Given the description of an element on the screen output the (x, y) to click on. 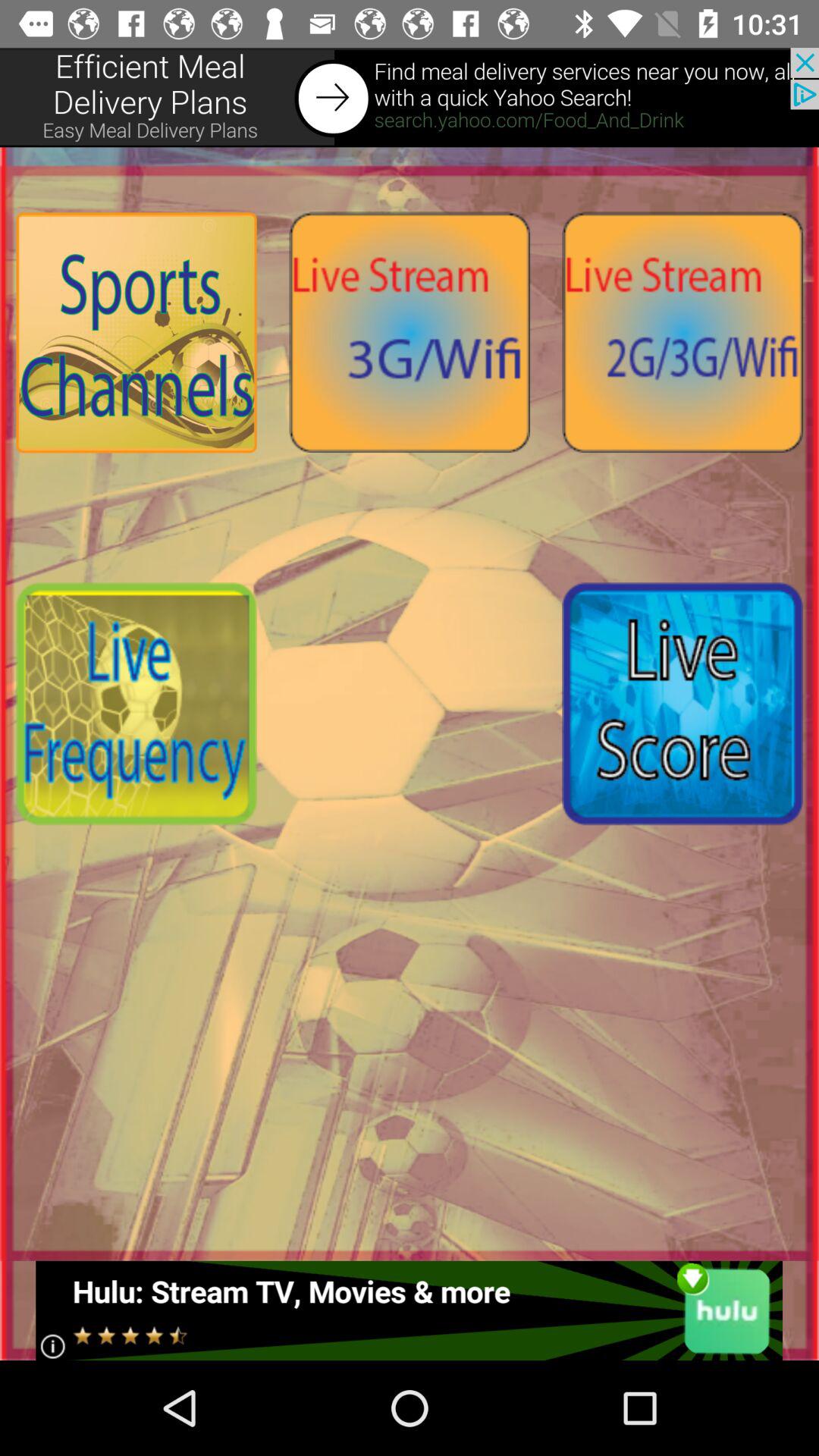
go to live frequency (136, 703)
